Given the description of an element on the screen output the (x, y) to click on. 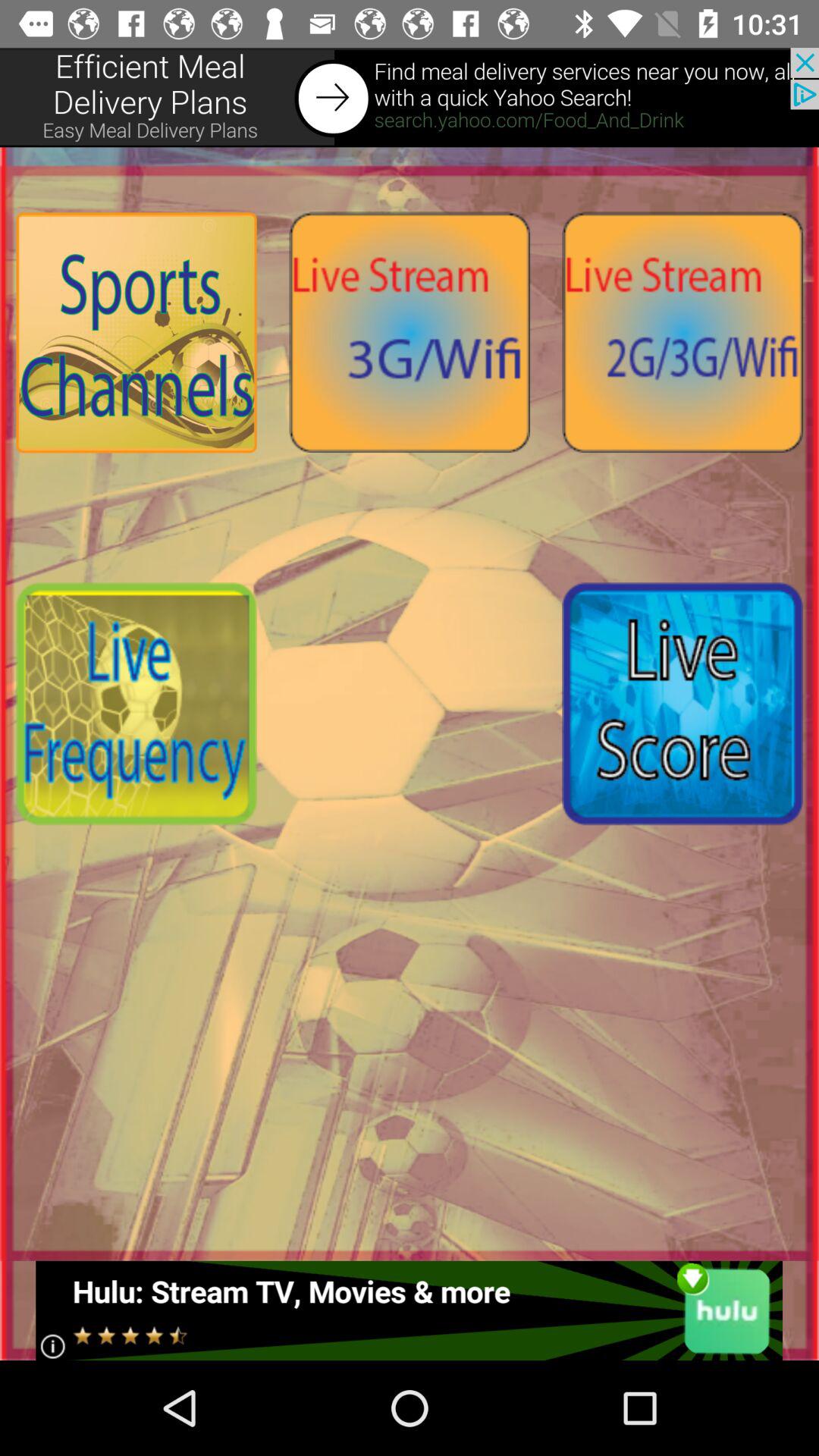
go to live frequency (136, 703)
